Given the description of an element on the screen output the (x, y) to click on. 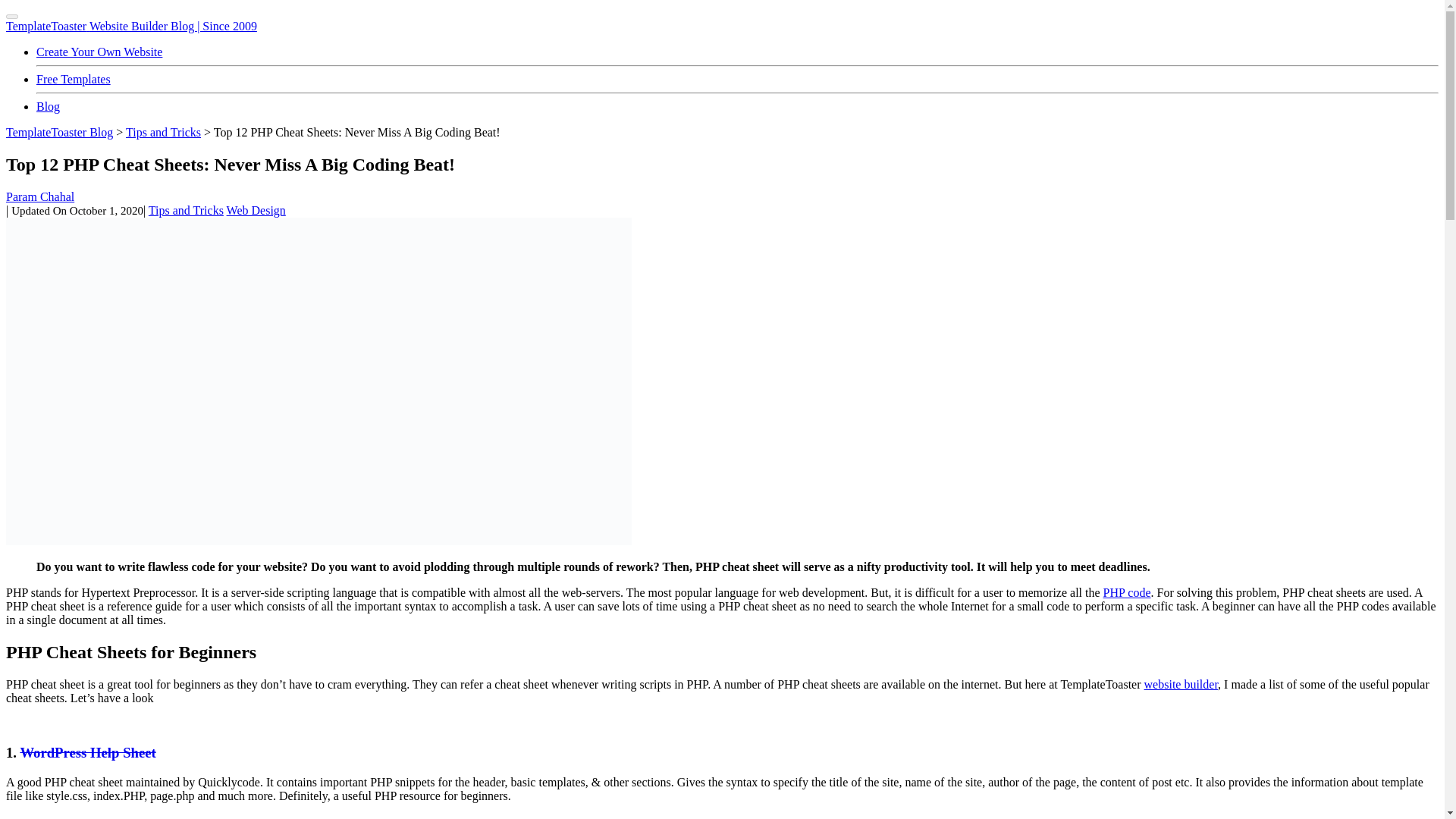
WordPress Help Sheet (87, 752)
Tips and Tricks (186, 210)
Web Design (256, 210)
Param Chahal (39, 196)
website builder (1181, 684)
TemplateToaster Blog (59, 132)
Tips and Tricks (162, 132)
PHP code (1127, 592)
Free Templates (73, 78)
Blog (47, 106)
